Given the description of an element on the screen output the (x, y) to click on. 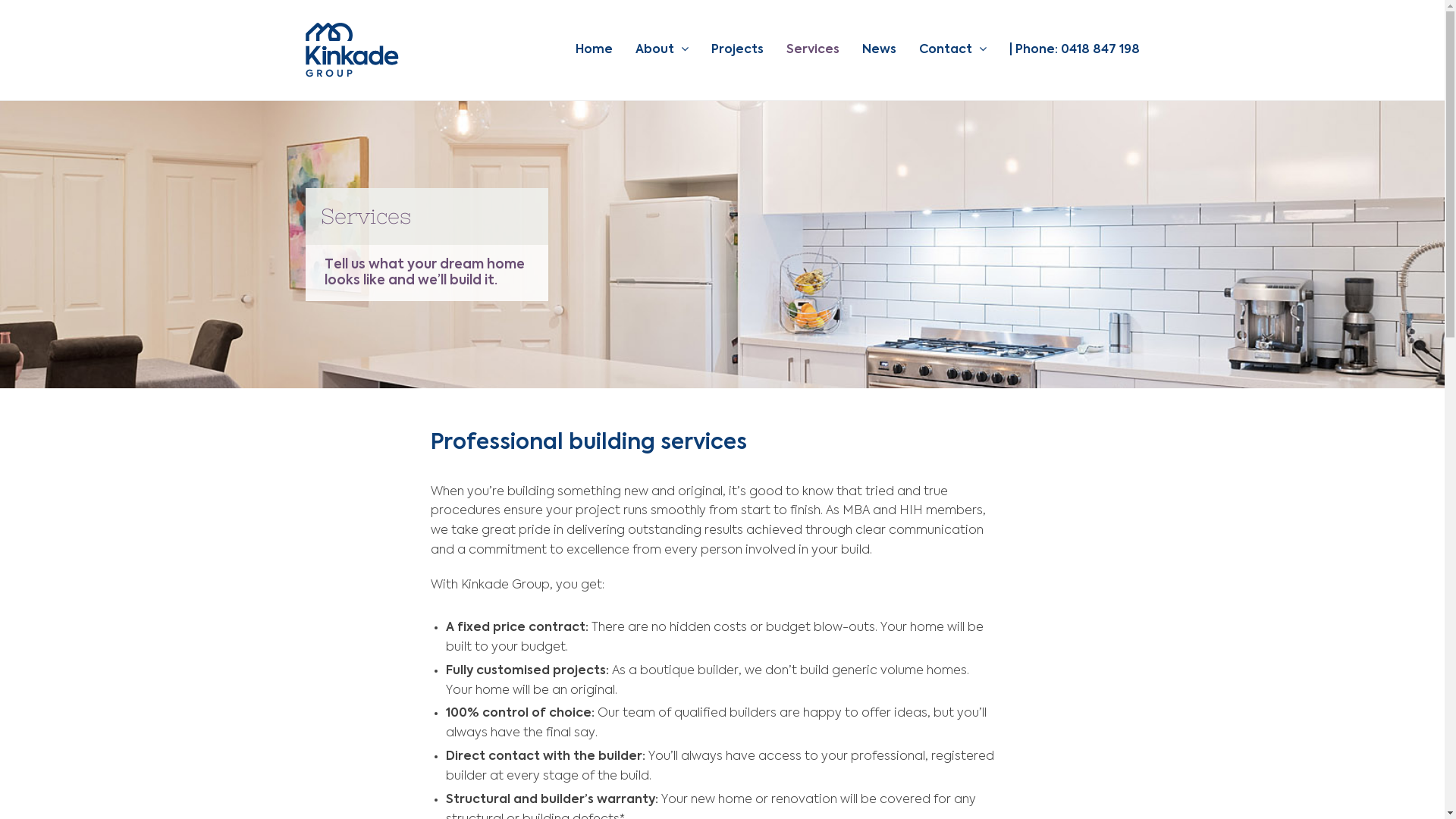
About Element type: text (661, 50)
Home Element type: text (592, 50)
Contact Element type: text (952, 50)
Projects Element type: text (737, 50)
Kinkade Group Element type: hover (351, 49)
Services Element type: text (811, 50)
News Element type: text (878, 50)
| Phone: 0418 847 198 Element type: text (1073, 50)
